Given the description of an element on the screen output the (x, y) to click on. 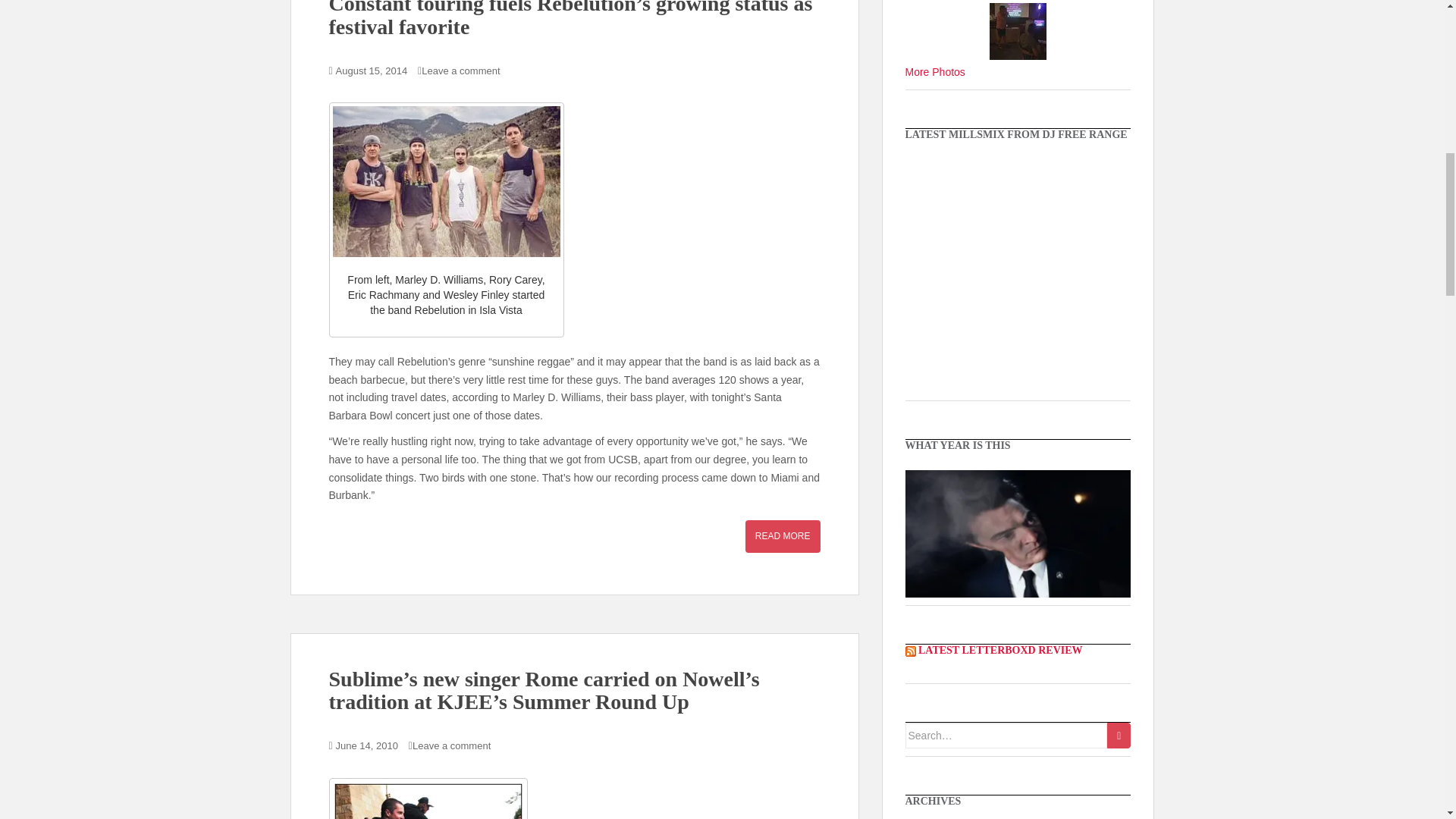
Leave a comment (460, 70)
Search for: (1006, 735)
August 15, 2014 (371, 70)
READ MORE (783, 536)
Palm Springs Day 2 08.19 (1018, 31)
